Given the description of an element on the screen output the (x, y) to click on. 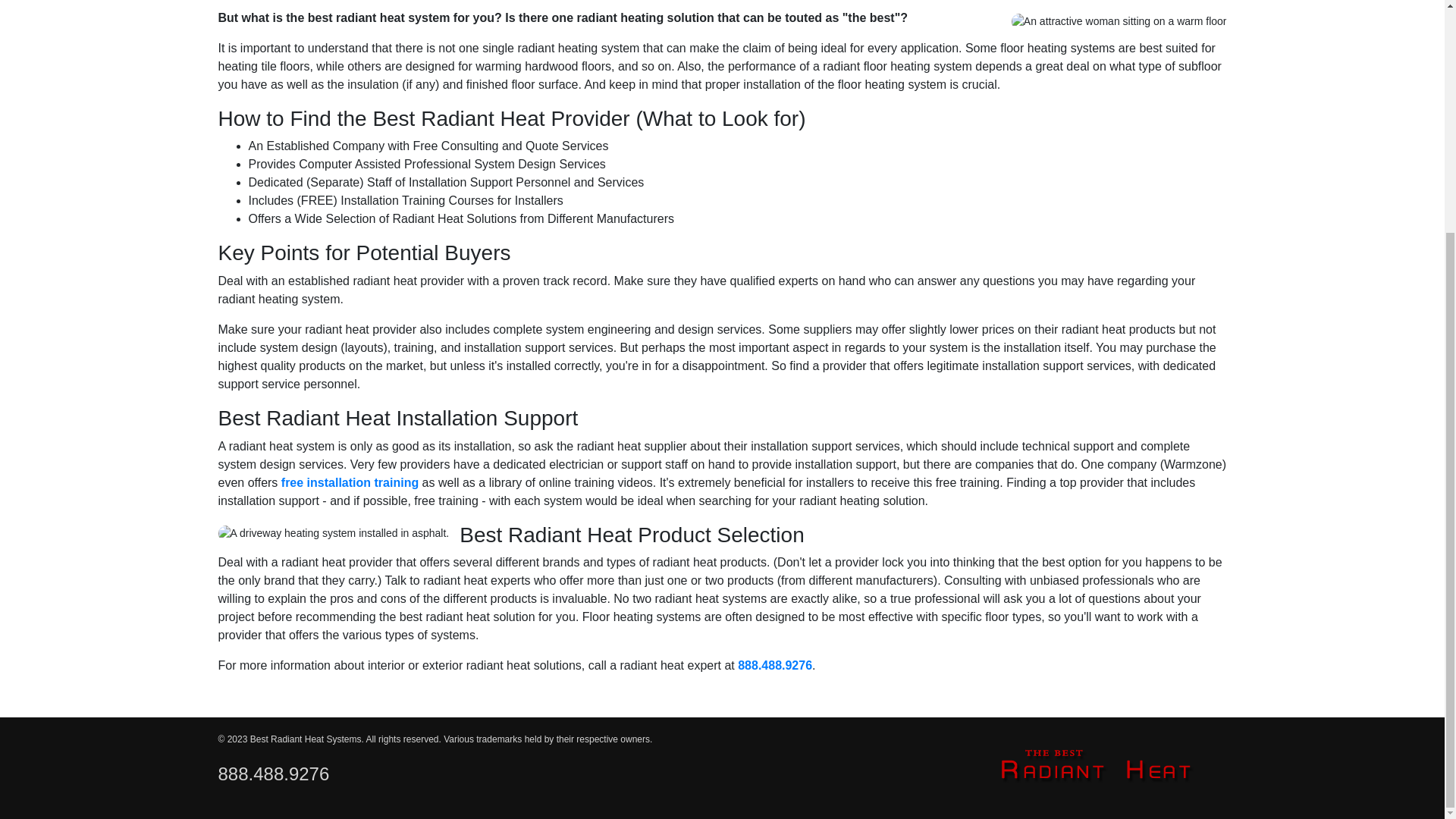
An attractive woman sitting on a warm floor. (1119, 21)
free installation training (350, 481)
888.488.9276 (274, 773)
Best radiant heat systems home page (1095, 764)
Call a radiant heat expert (274, 773)
A heated driveway with two 24-inch wide tire tracks. (333, 533)
888.488.9276 (775, 665)
Radiant heat information (775, 665)
Free radiant heat installation training courses (350, 481)
